Given the description of an element on the screen output the (x, y) to click on. 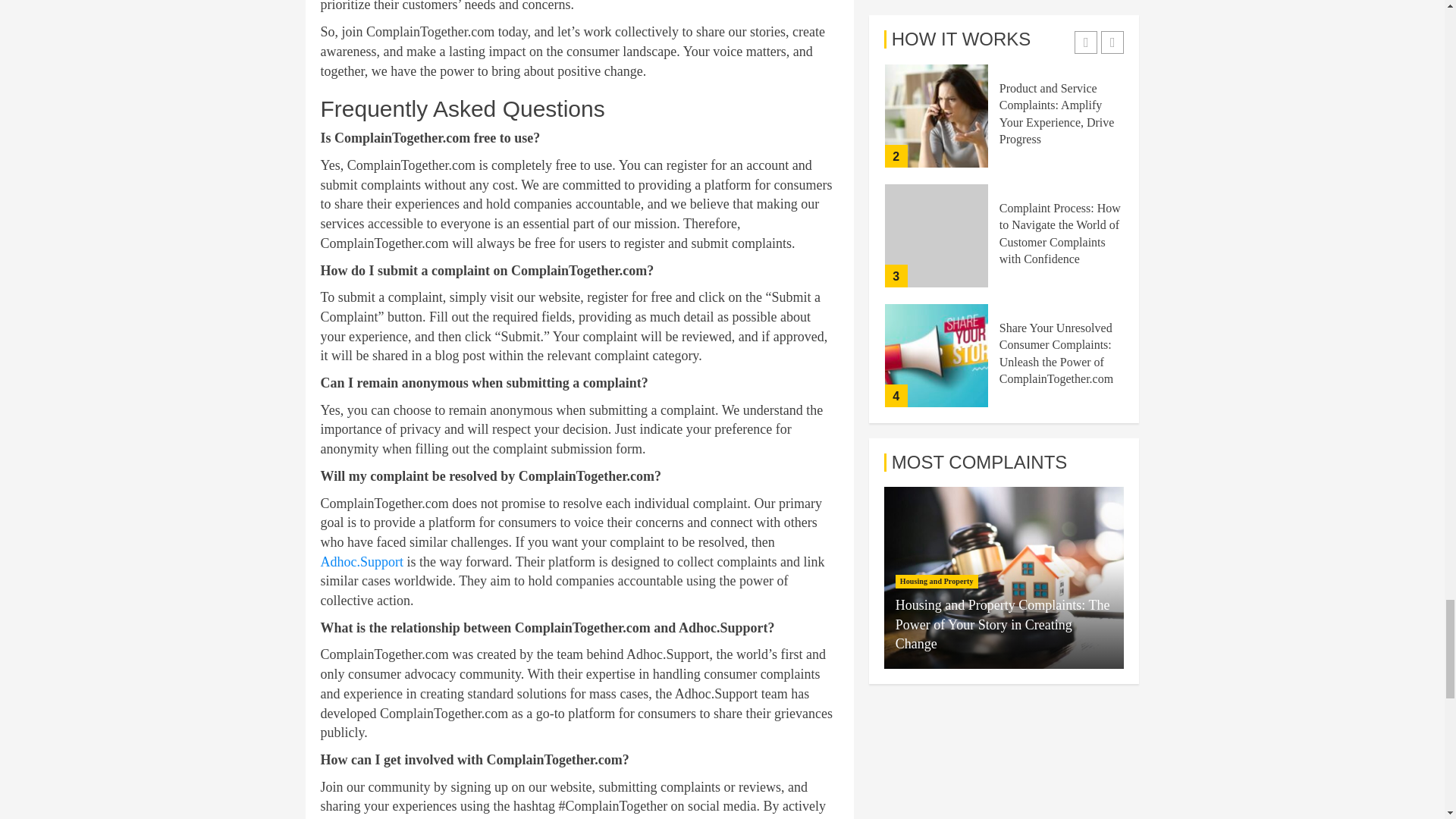
Adhoc.Support (361, 561)
